Given the description of an element on the screen output the (x, y) to click on. 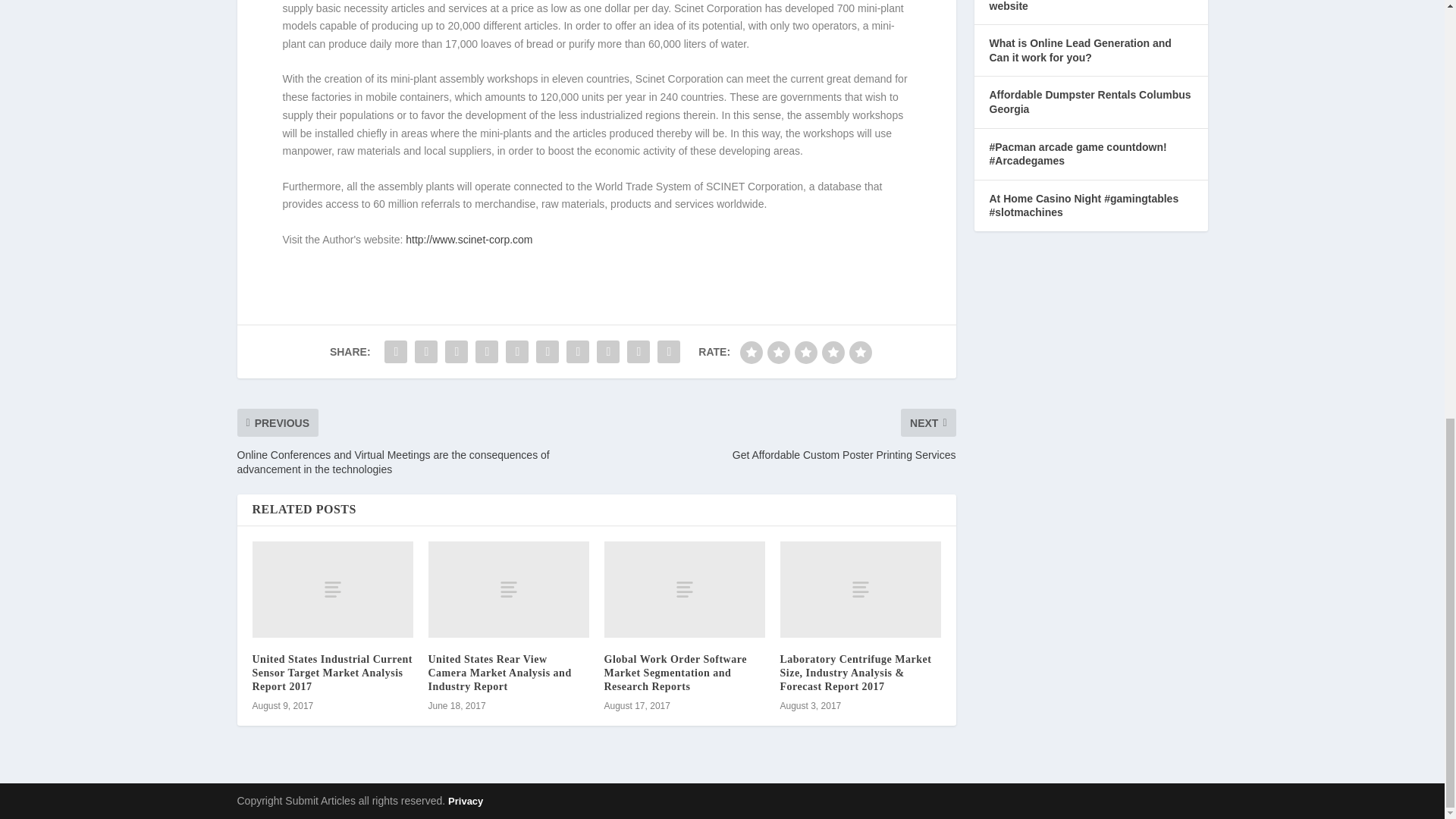
bad (750, 352)
poor (778, 352)
regular (805, 352)
good (833, 352)
